Given the description of an element on the screen output the (x, y) to click on. 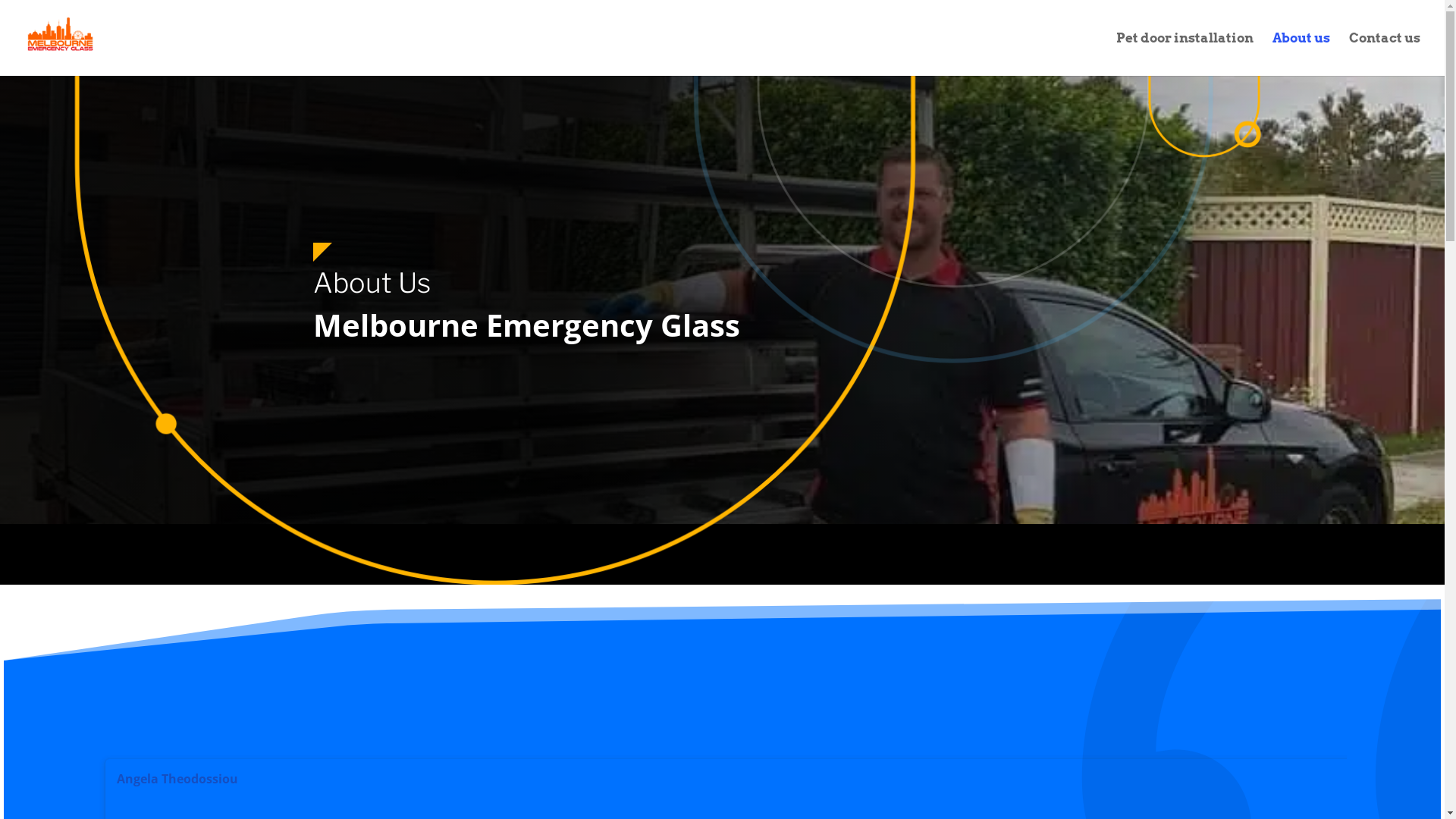
Pet door installation Element type: text (1184, 53)
Angela Theodossiou Element type: text (182, 778)
Contact us Element type: text (1384, 53)
About us Element type: text (1301, 53)
